Given the description of an element on the screen output the (x, y) to click on. 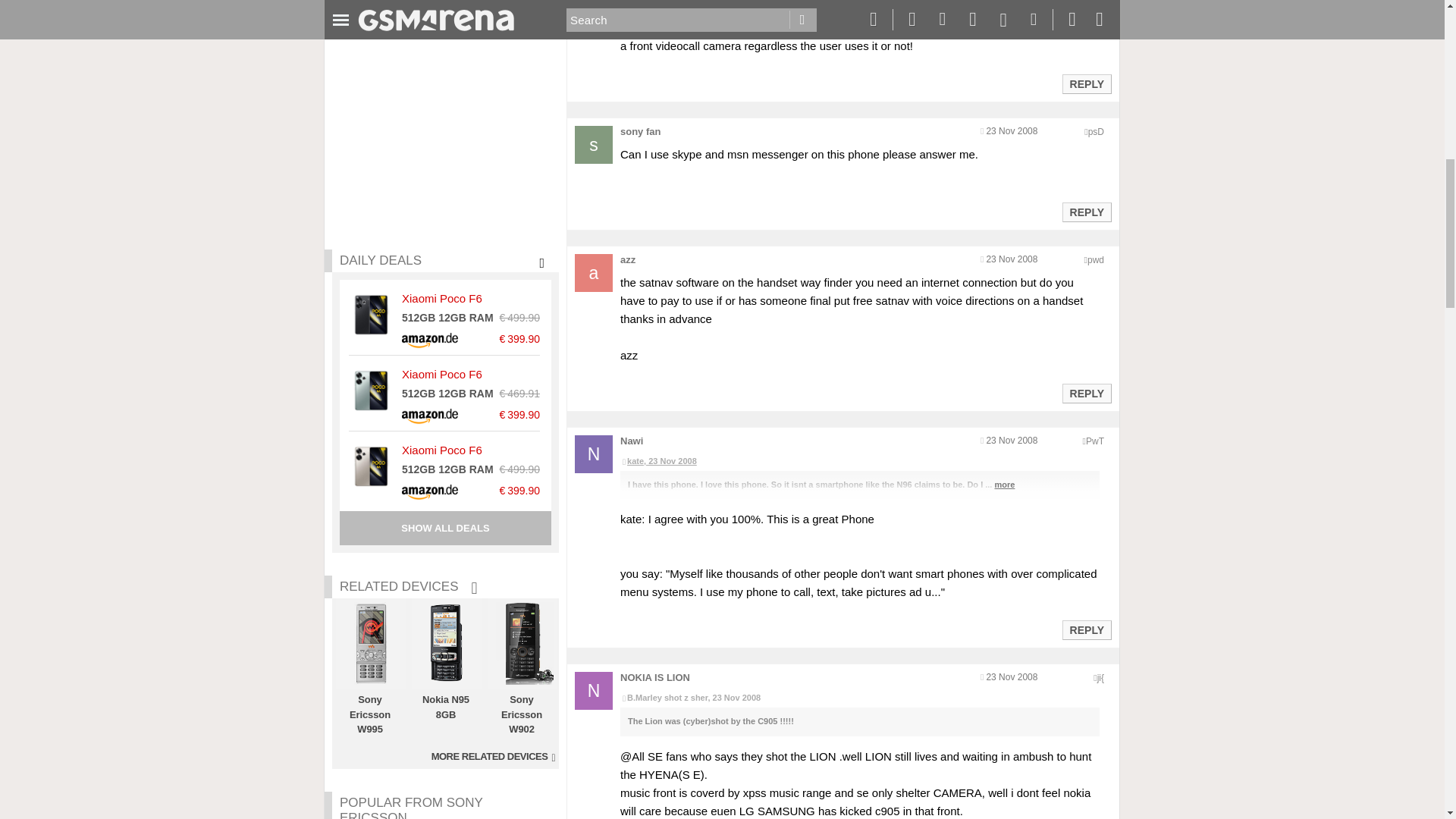
Reply to this post (1086, 393)
Reply to this post (1086, 630)
Encoded anonymized location (1095, 259)
Reply to this post (1086, 83)
Encoded anonymized location (1094, 440)
Encoded anonymized location (1095, 131)
Reply to this post (1086, 212)
